Given the description of an element on the screen output the (x, y) to click on. 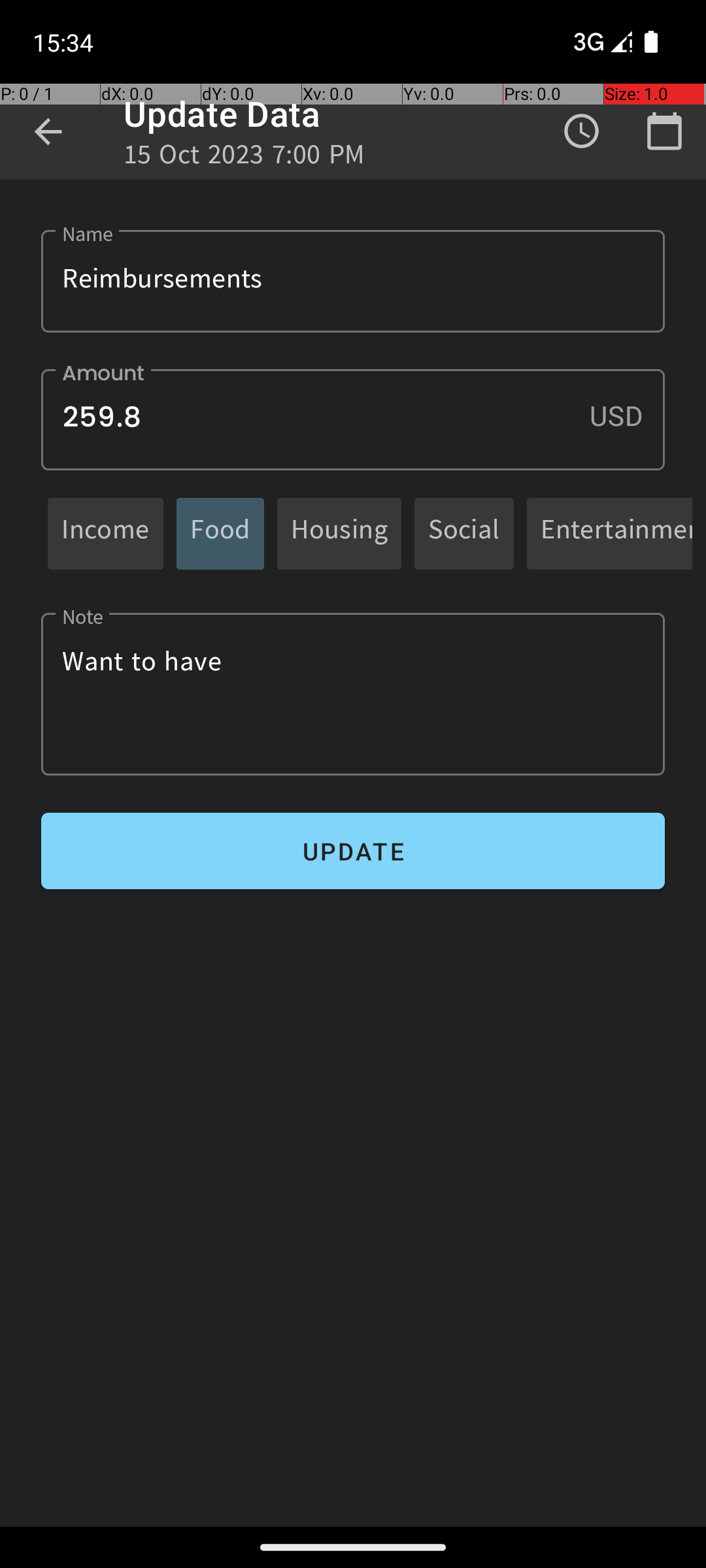
15 Oct 2023 7:00 PM Element type: android.widget.TextView (244, 157)
259.8 Element type: android.widget.EditText (352, 419)
